Given the description of an element on the screen output the (x, y) to click on. 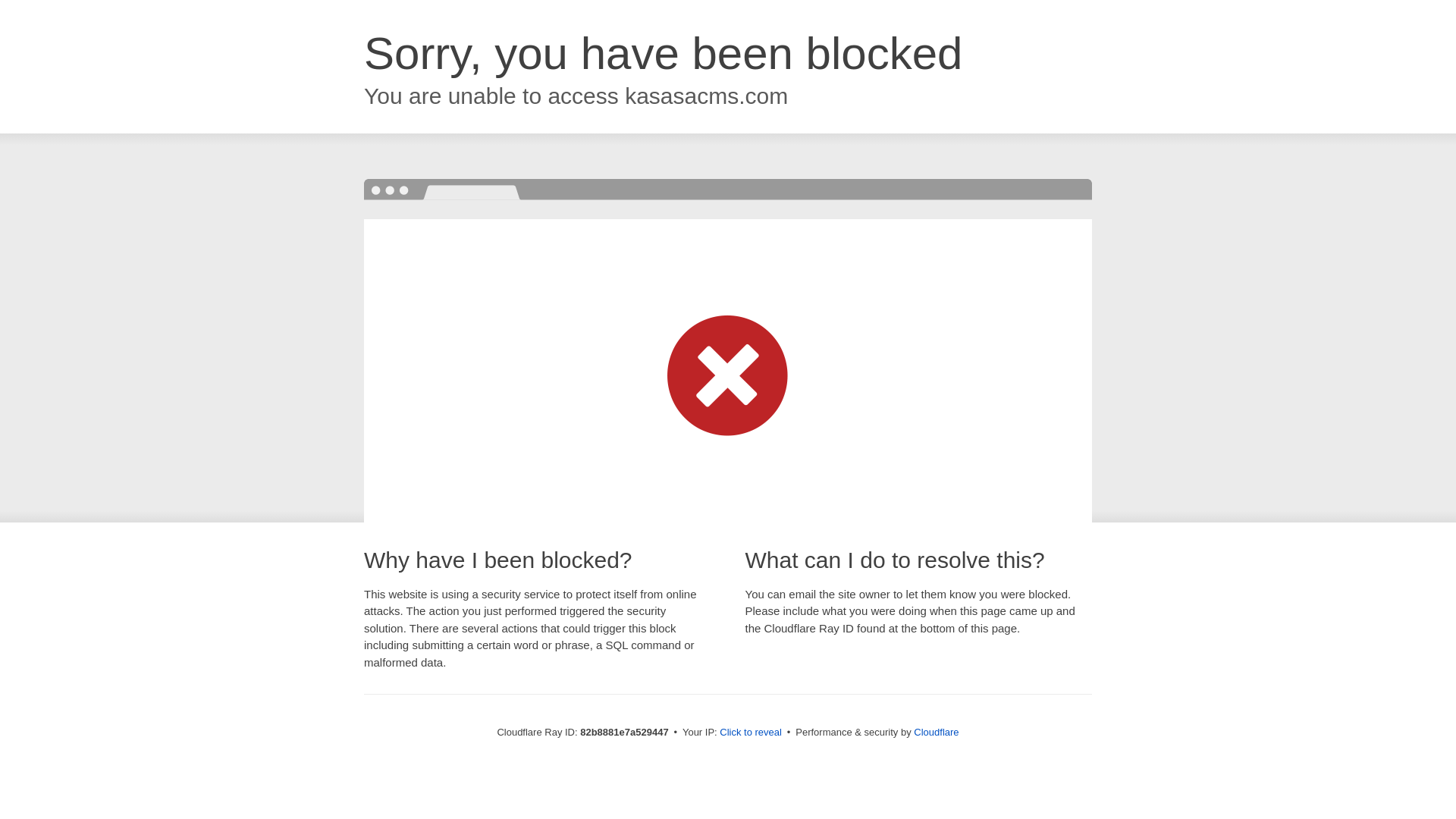
Click to reveal Element type: text (750, 732)
Cloudflare Element type: text (935, 731)
